Given the description of an element on the screen output the (x, y) to click on. 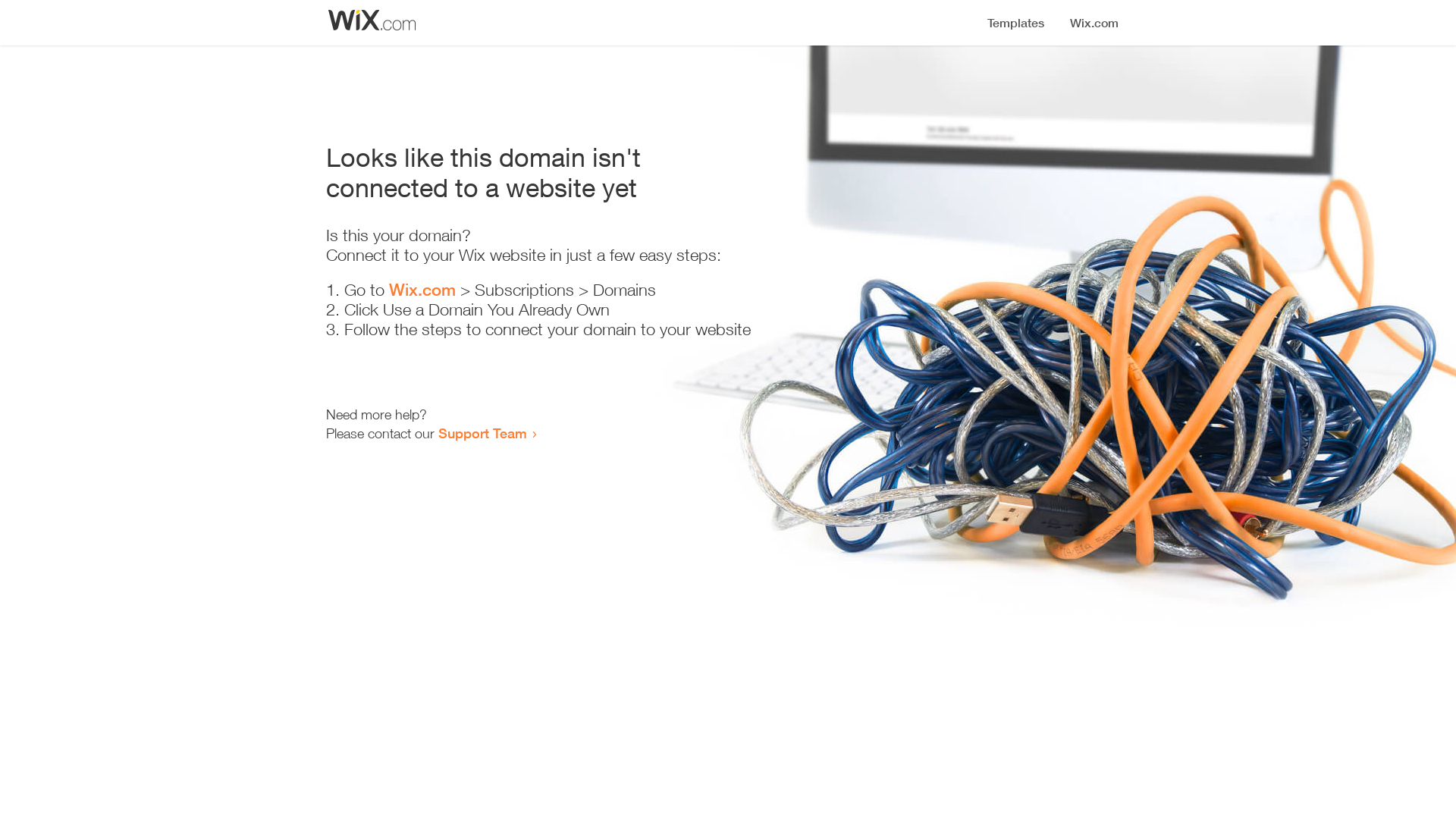
Wix.com Element type: text (422, 289)
Support Team Element type: text (482, 432)
